Given the description of an element on the screen output the (x, y) to click on. 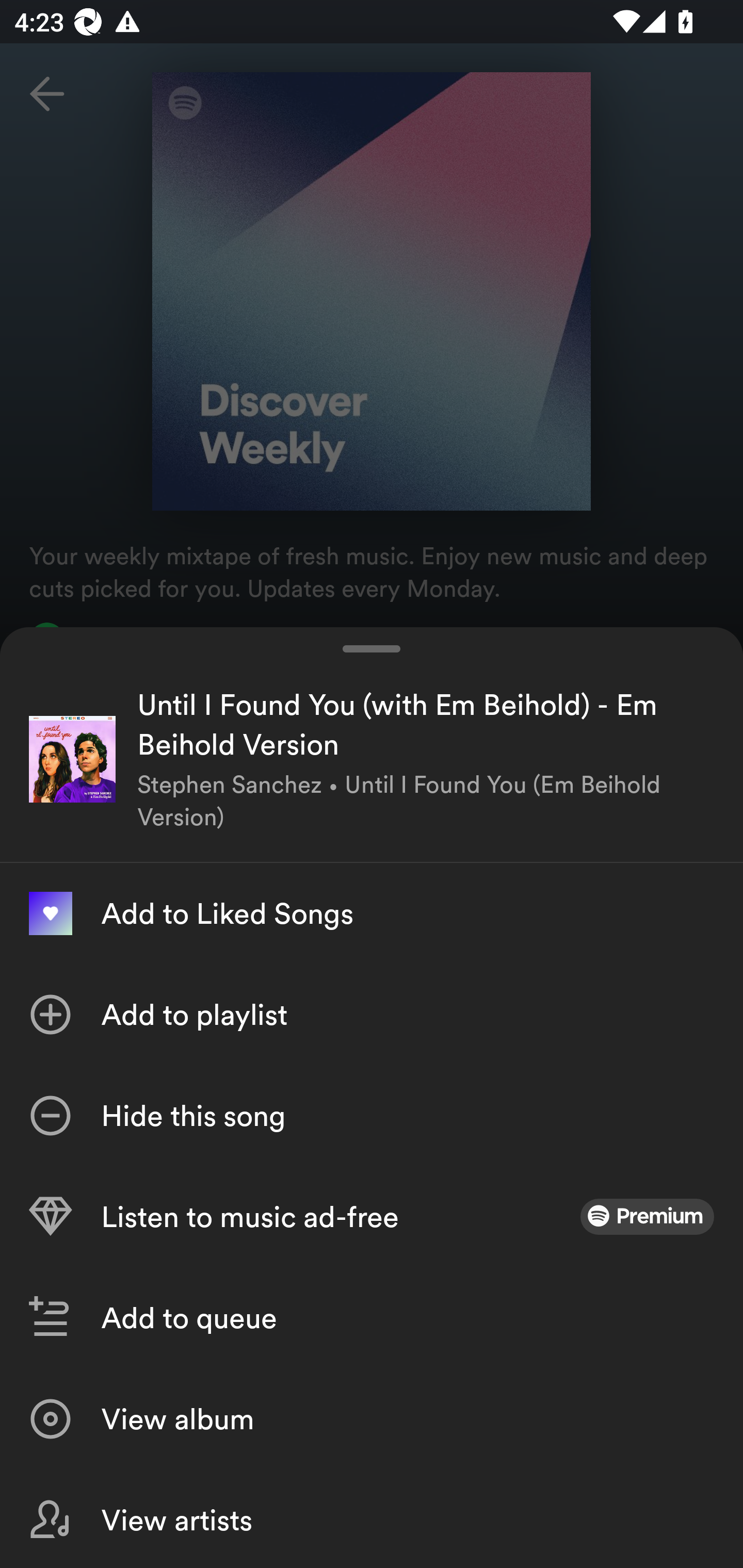
Add to Liked Songs (371, 913)
Add to playlist (371, 1014)
Hide this song (371, 1115)
Listen to music ad-free (371, 1216)
Add to queue (371, 1317)
View album (371, 1418)
View artists (371, 1518)
